Given the description of an element on the screen output the (x, y) to click on. 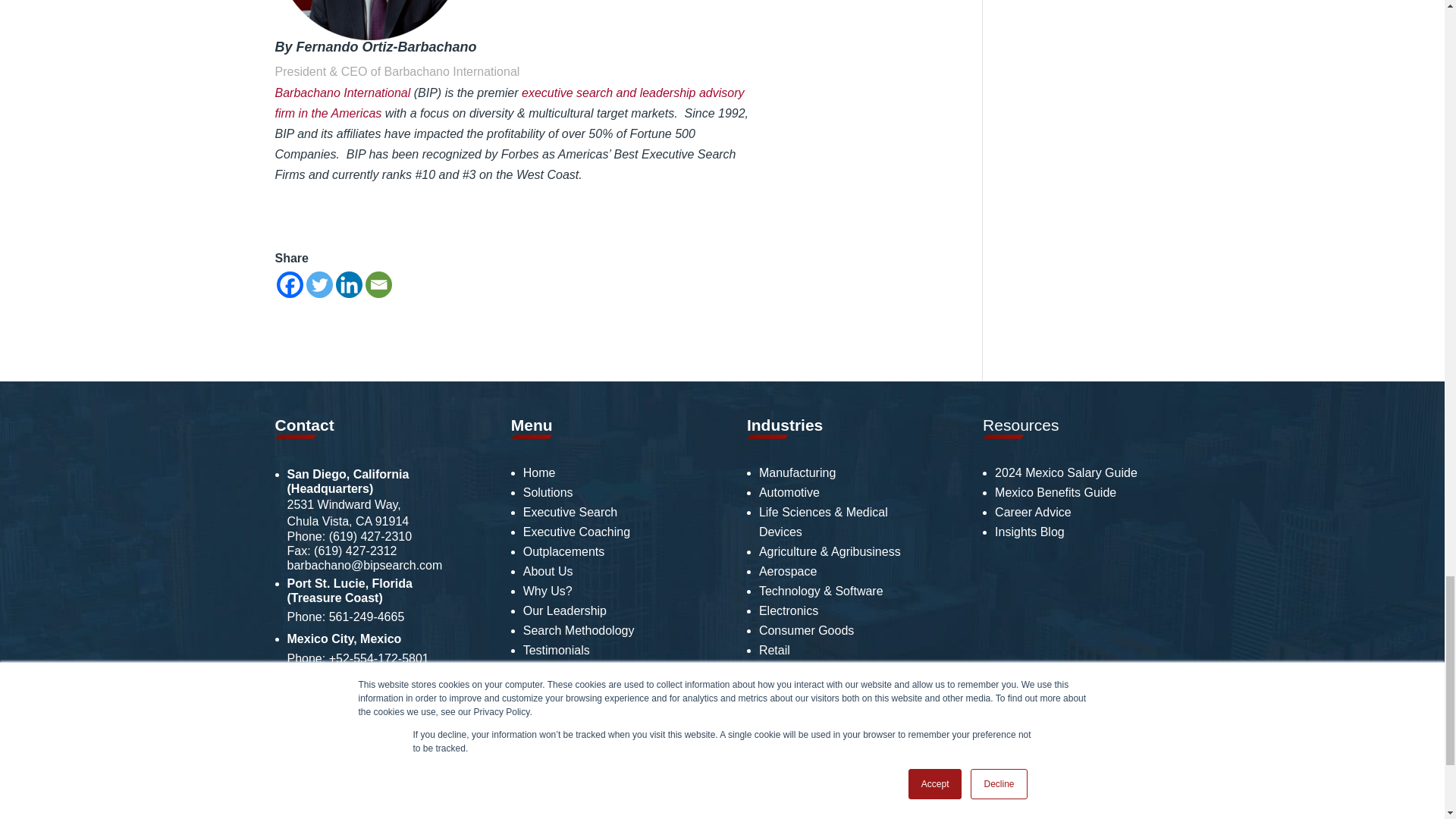
Facebook (289, 284)
Barbachano Executive Search Solution (509, 102)
Email (378, 284)
Customer testimonials (555, 649)
Linkedin (347, 284)
Twitter (319, 284)
Barbachano Candidates (553, 669)
Barbachano International website (342, 92)
